Given the description of an element on the screen output the (x, y) to click on. 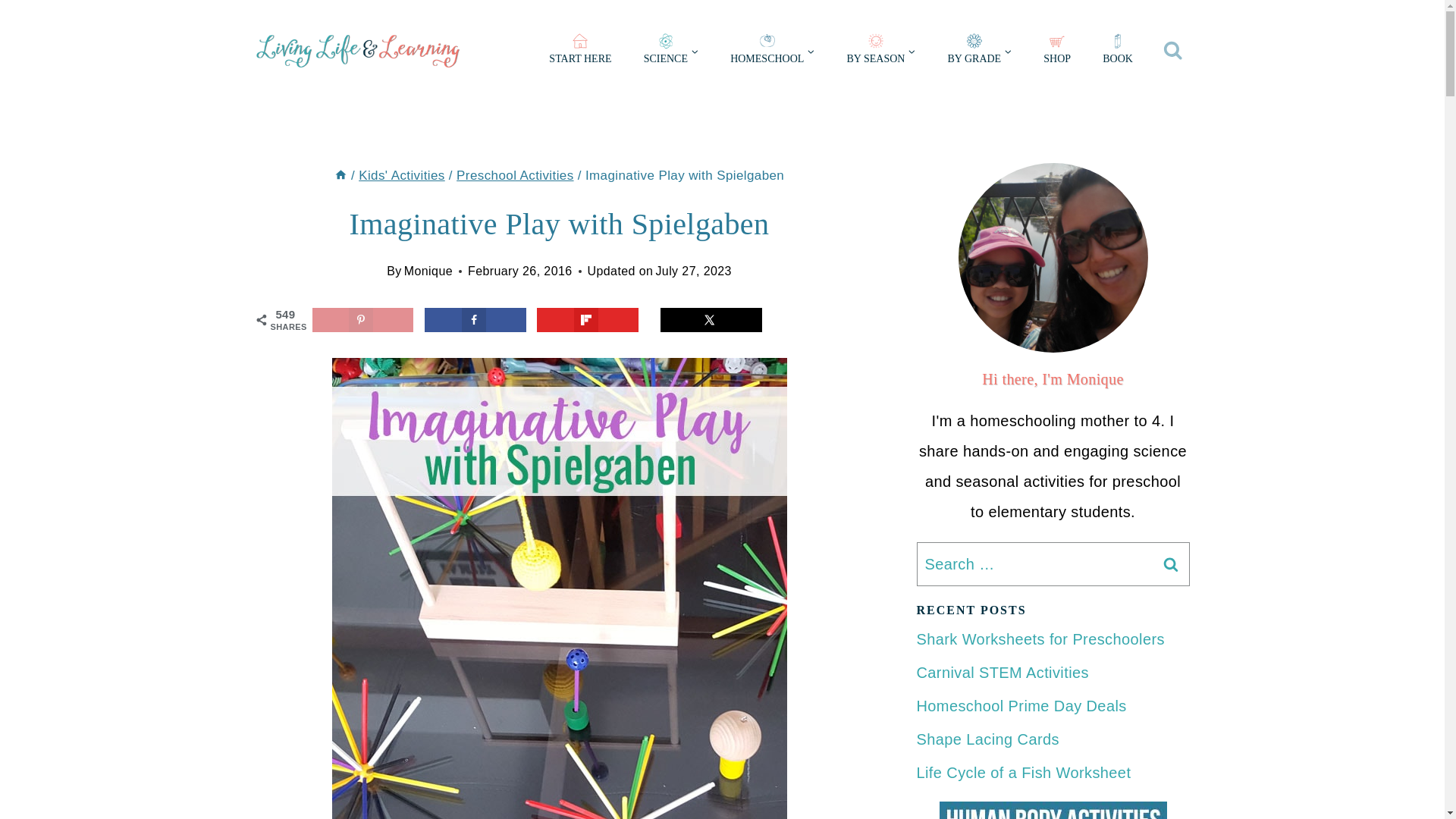
Share on Flipboard (588, 319)
Share on X (711, 319)
BY SEASON (880, 51)
START HERE (579, 51)
SCIENCE (670, 51)
Save to Pinterest (363, 319)
Home (340, 175)
Homeschooling Ideas (771, 51)
Science Activities (670, 51)
Homeschool Planning Book (1117, 51)
Share on Facebook (475, 319)
New to homeschool? Start here (579, 51)
The Living Life and Learning Shop (1056, 51)
HOMESCHOOL (771, 51)
BY GRADE (979, 51)
